Given the description of an element on the screen output the (x, y) to click on. 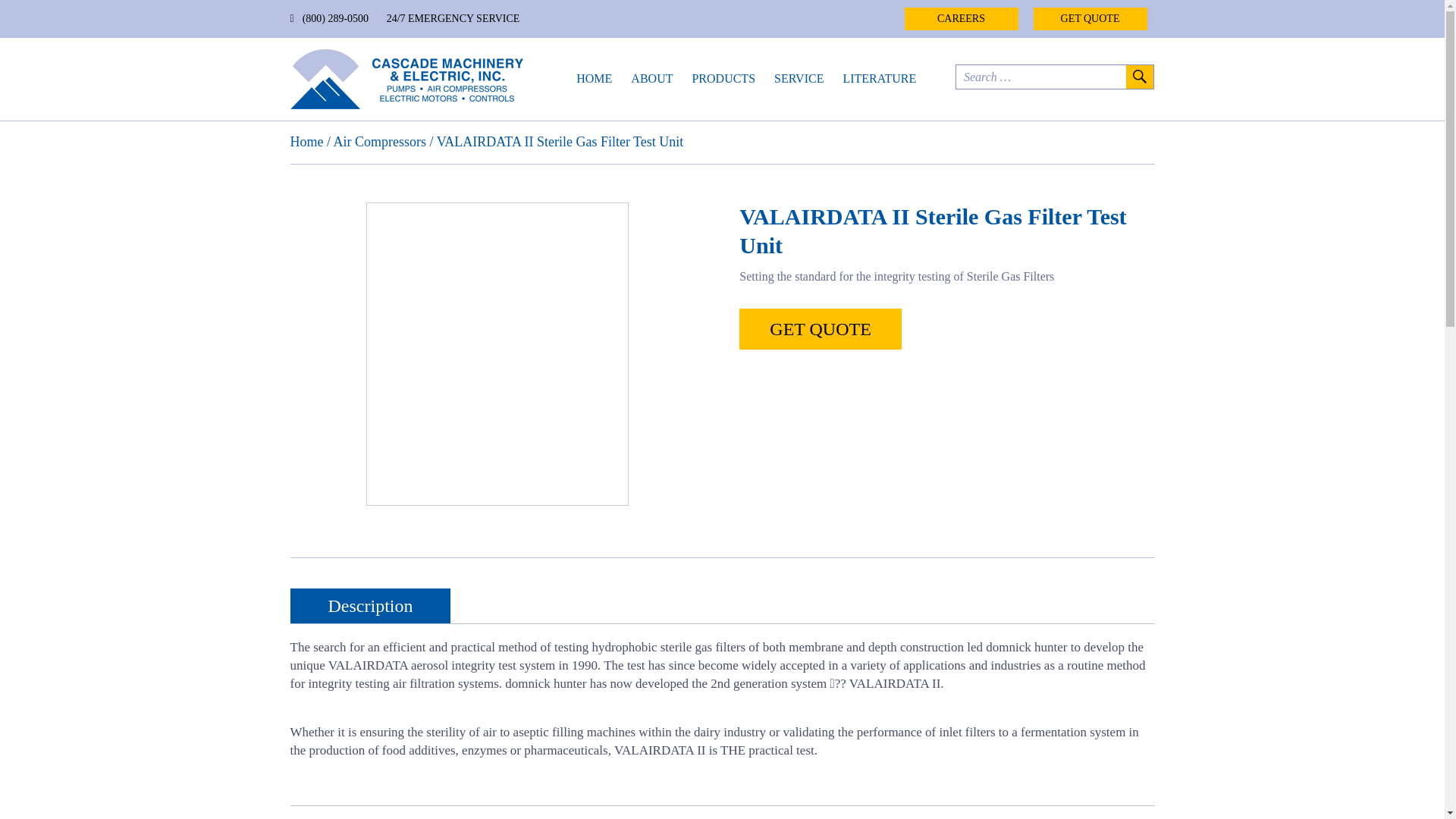
Air Compressors (379, 141)
LITERATURE (879, 78)
PRODUCTS (723, 78)
Search (1138, 76)
CAREERS (960, 18)
GET QUOTE (1089, 18)
535747 (496, 354)
GET QUOTE (820, 328)
